Given the description of an element on the screen output the (x, y) to click on. 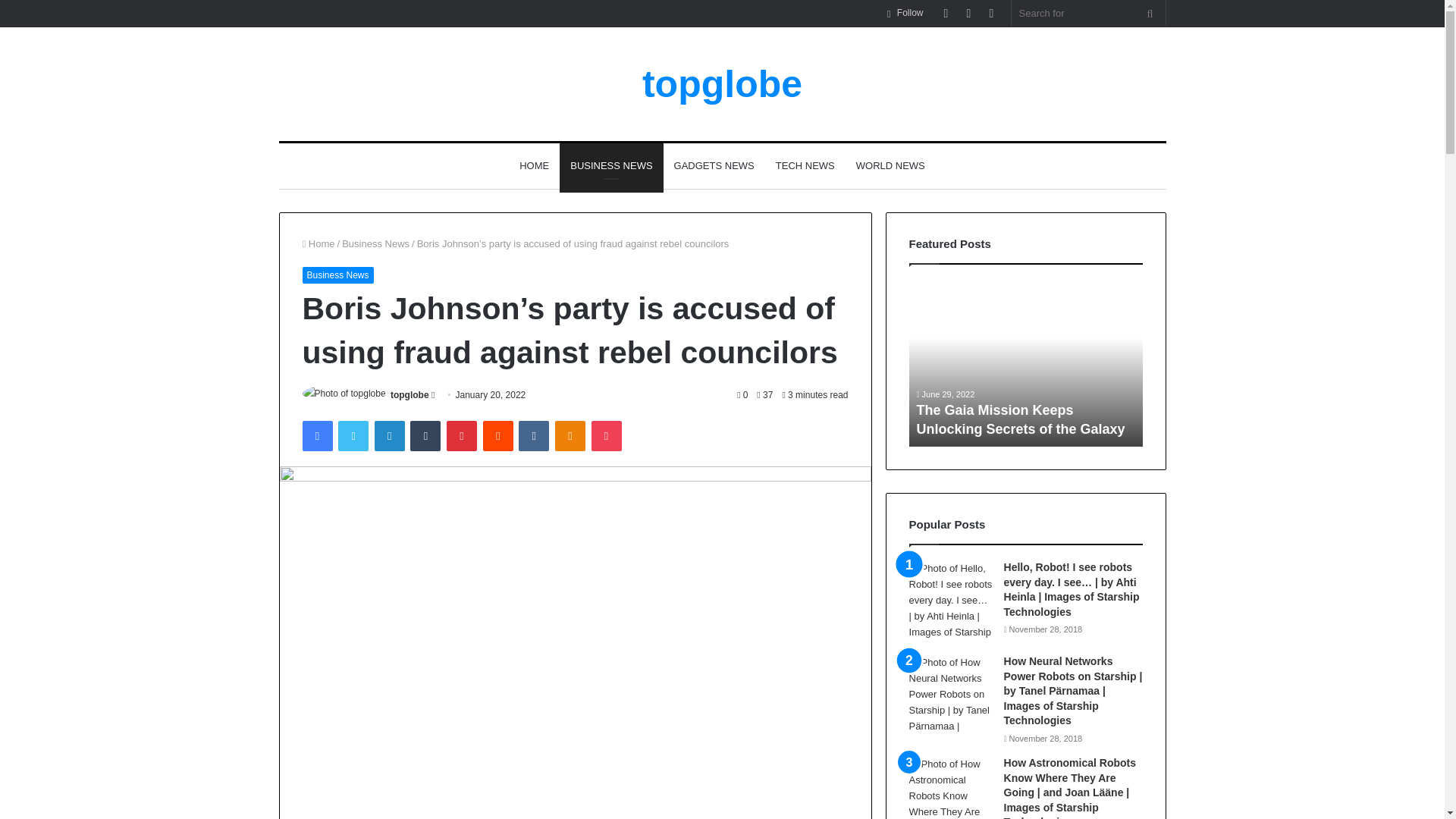
Reddit (498, 435)
Twitter (352, 435)
Odnoklassniki (569, 435)
BUSINESS NEWS (610, 166)
VKontakte (533, 435)
Twitter (352, 435)
Business News (375, 243)
Tumblr (425, 435)
VKontakte (533, 435)
HOME (533, 166)
